Given the description of an element on the screen output the (x, y) to click on. 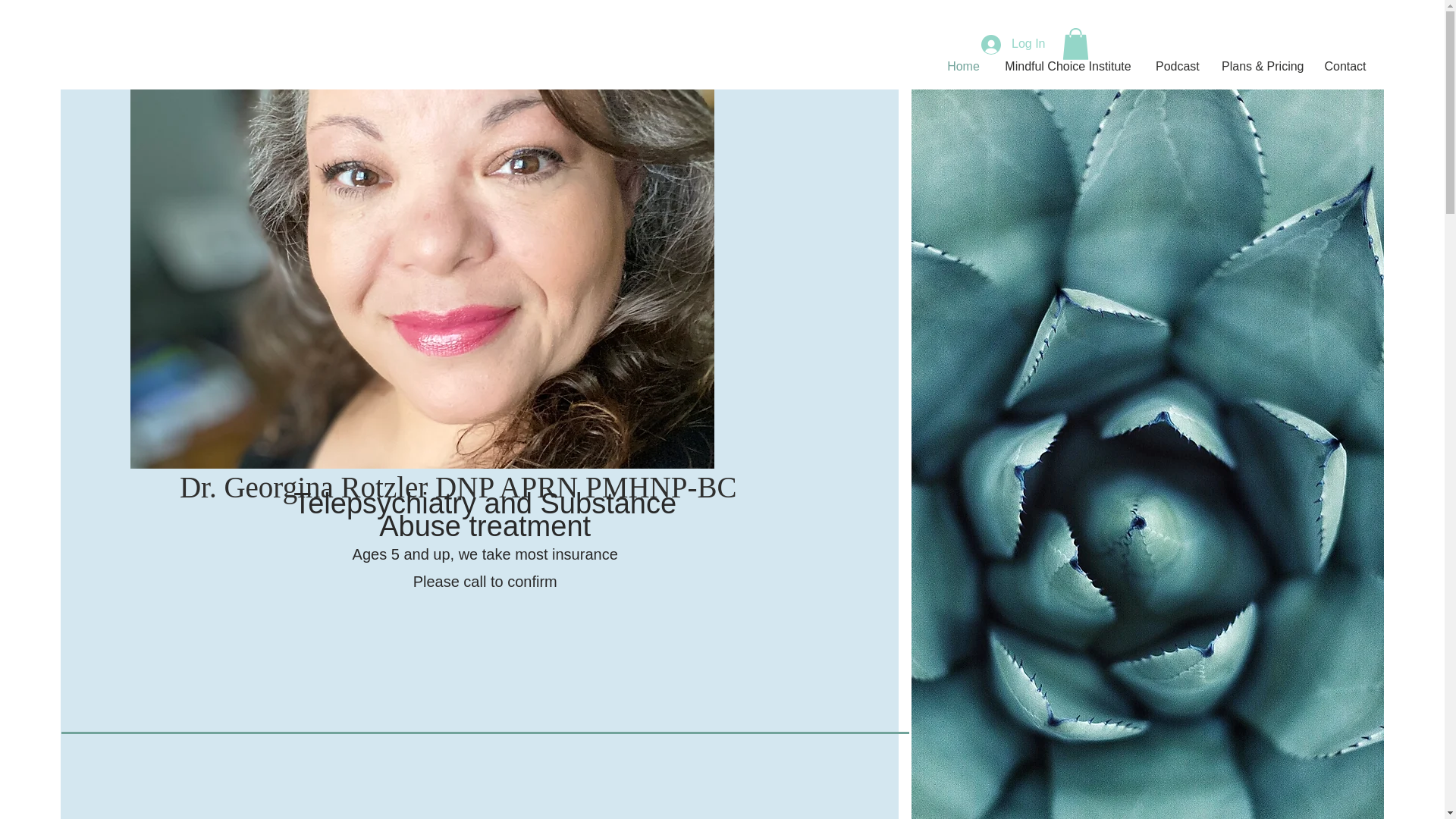
Log In (1013, 44)
Podcast (1176, 66)
Home (962, 66)
Mindful Choice Institute (1067, 66)
Contact (1345, 66)
